Given the description of an element on the screen output the (x, y) to click on. 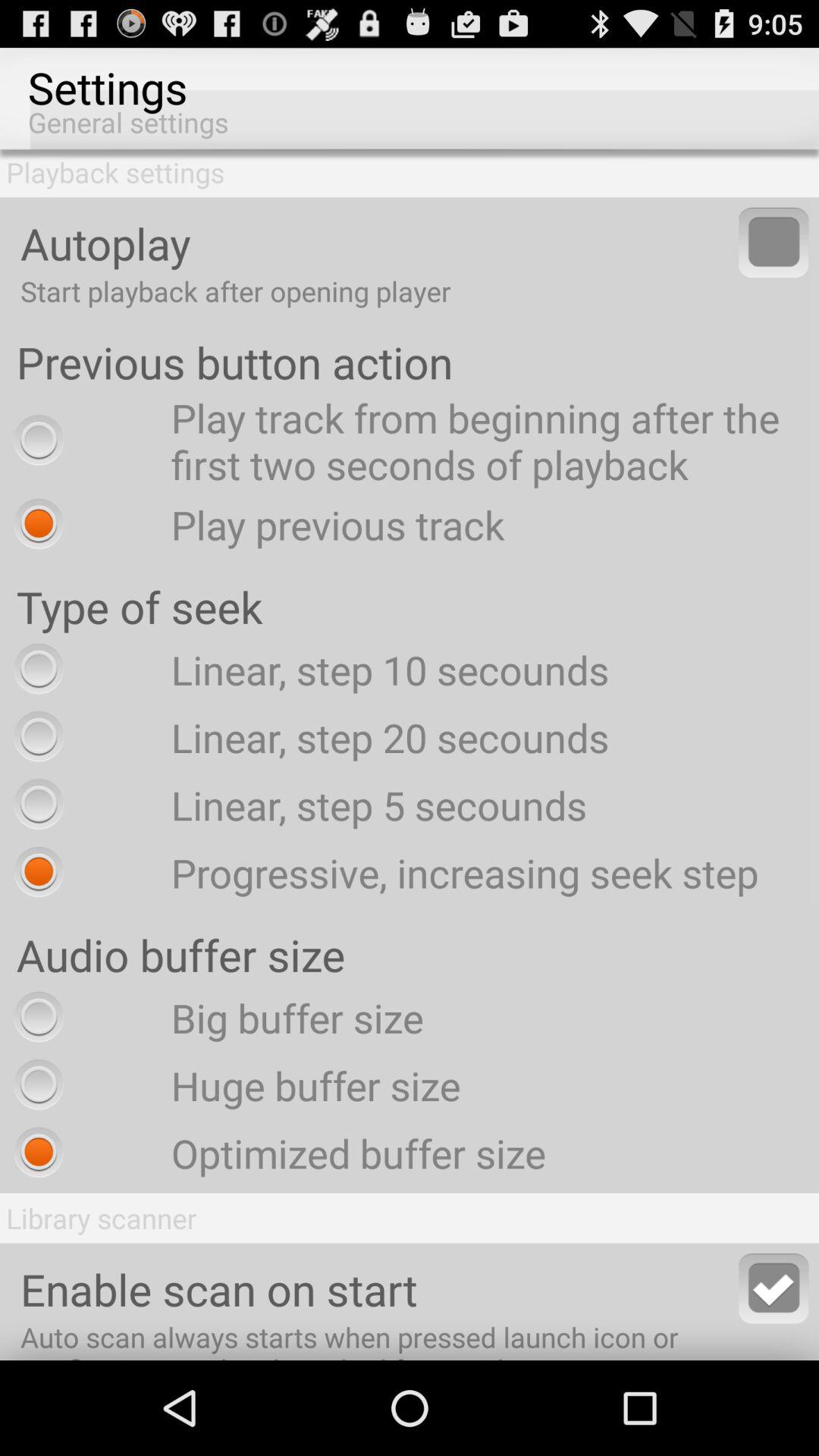
scroll until progressive increasing seek item (382, 872)
